Given the description of an element on the screen output the (x, y) to click on. 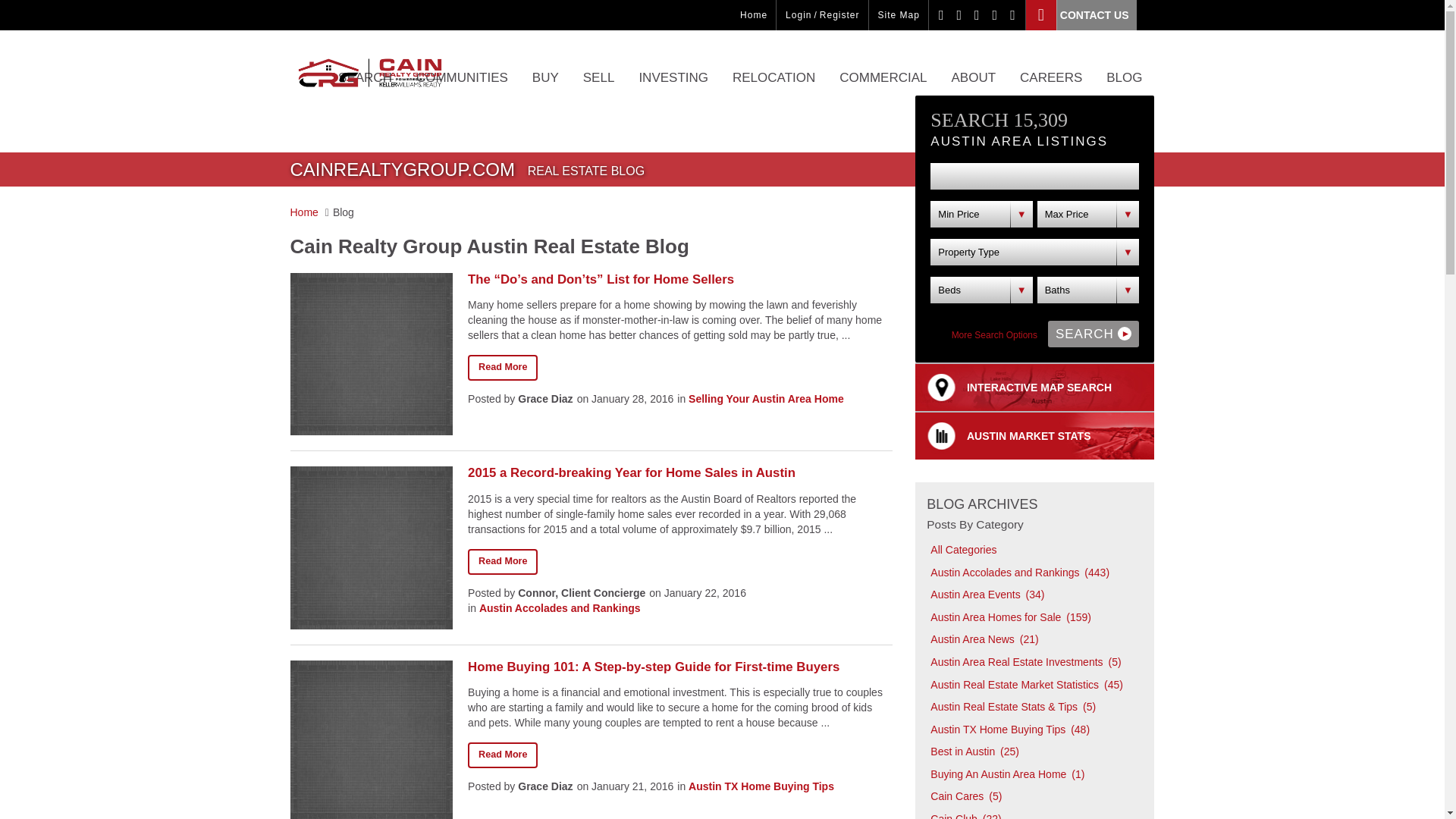
2015 a Record-breaking Year for Home Sales in Austin (679, 472)
CONTACT US (1081, 15)
Register (839, 14)
Home (753, 14)
Home Buying 101: A Step-by-step Guide for First-time Buyers (502, 755)
2015 a Record-breaking Year for Home Sales in Austin (502, 561)
SEARCH (365, 89)
Home Buying 101: A Step-by-step Guide for First-time Buyers (679, 667)
Site Map (898, 14)
COMMUNITIES (461, 89)
